Given the description of an element on the screen output the (x, y) to click on. 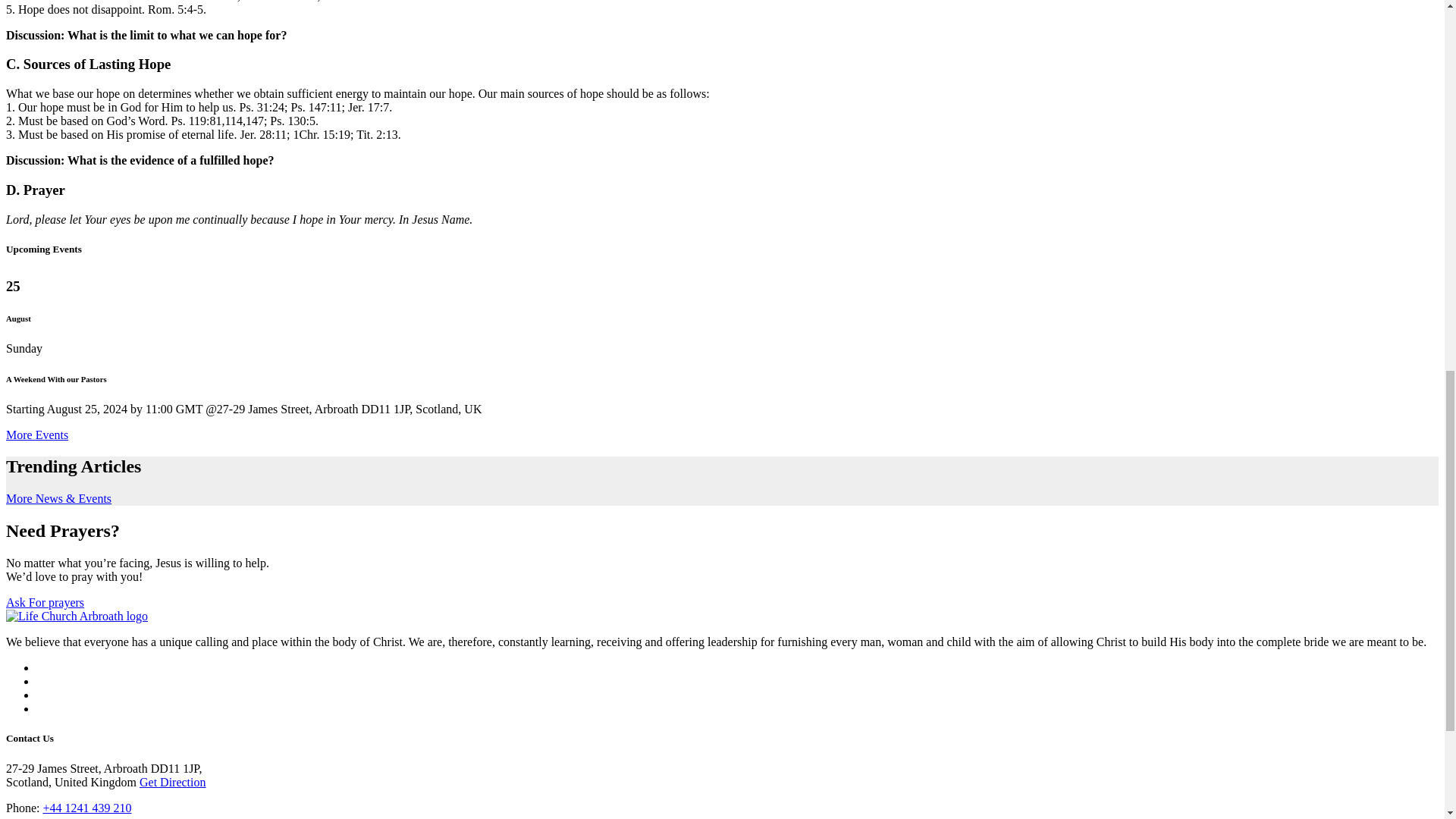
A Weekend With our Pastors (55, 379)
Get Direction (172, 781)
Ask For prayers (44, 602)
More Events (36, 434)
